Given the description of an element on the screen output the (x, y) to click on. 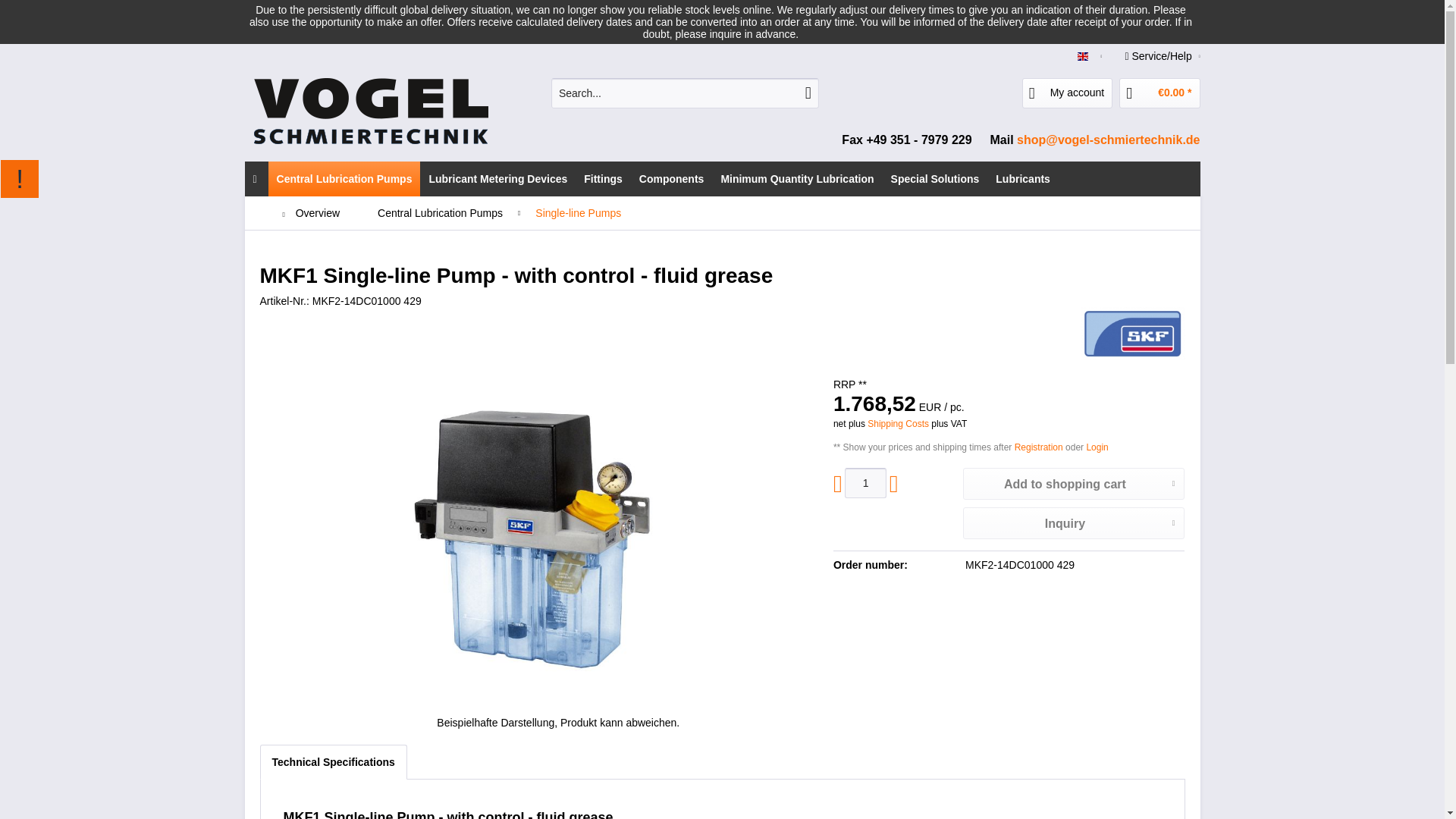
Mail to Vogel lubrication (1107, 139)
Lubricants (1022, 178)
Lubricants (1022, 178)
0 (254, 178)
Components (671, 178)
Minimum Quantity Lubrication (796, 178)
Components (671, 178)
1 (864, 482)
Special Solutions (935, 178)
Lubricant Metering Devices (497, 178)
My account (1067, 92)
Lubricant Metering Devices (497, 178)
My account (1067, 92)
